Given the description of an element on the screen output the (x, y) to click on. 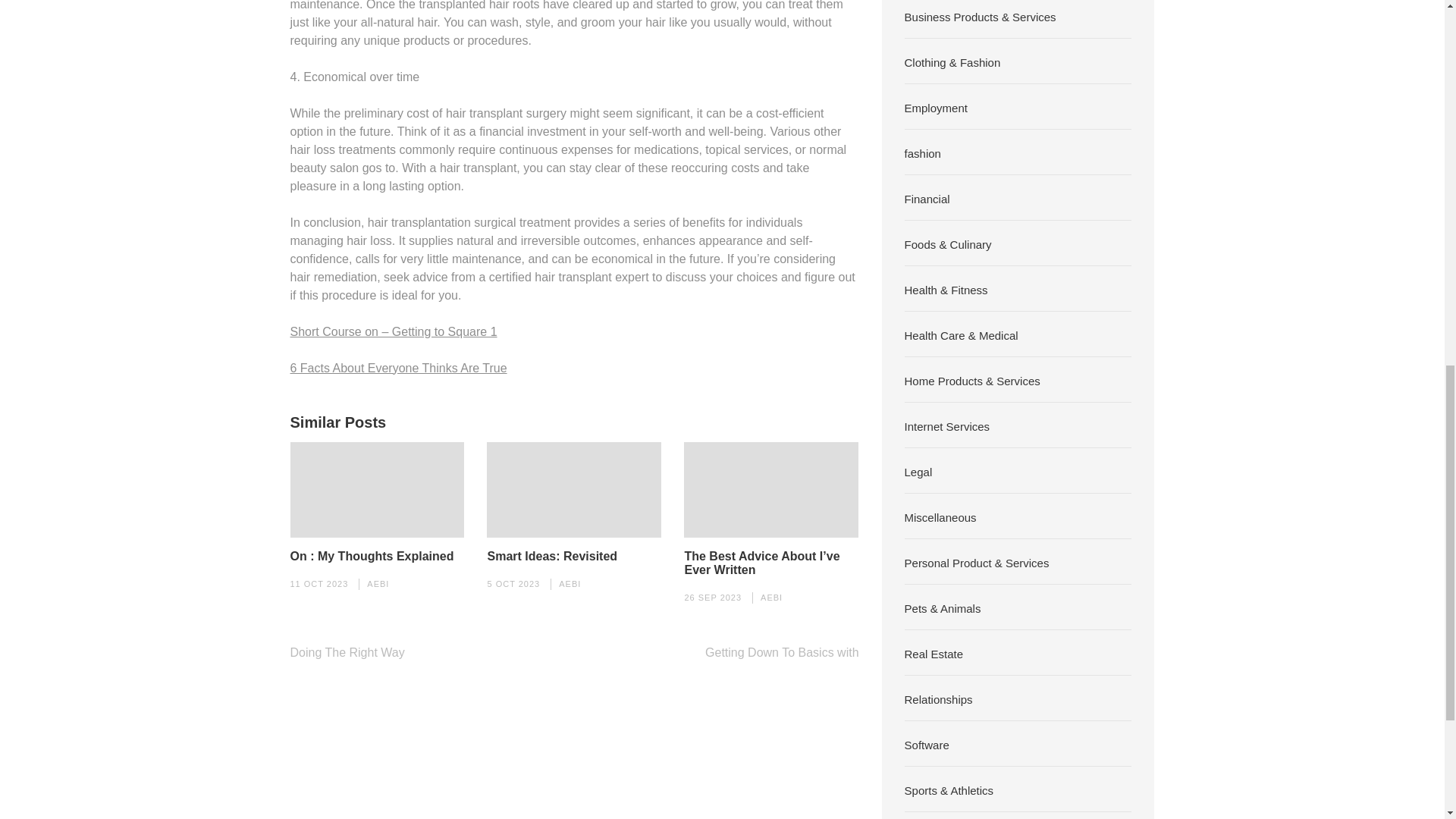
AEBI (569, 583)
Doing The Right Way (346, 652)
AEBI (771, 596)
Getting Down To Basics with (781, 652)
6 Facts About Everyone Thinks Are True (397, 367)
On : My Thoughts Explained (370, 556)
Smart Ideas: Revisited (551, 556)
Employment (936, 107)
AEBI (377, 583)
11 OCT 2023 (318, 583)
5 OCT 2023 (513, 583)
26 SEP 2023 (712, 596)
